Given the description of an element on the screen output the (x, y) to click on. 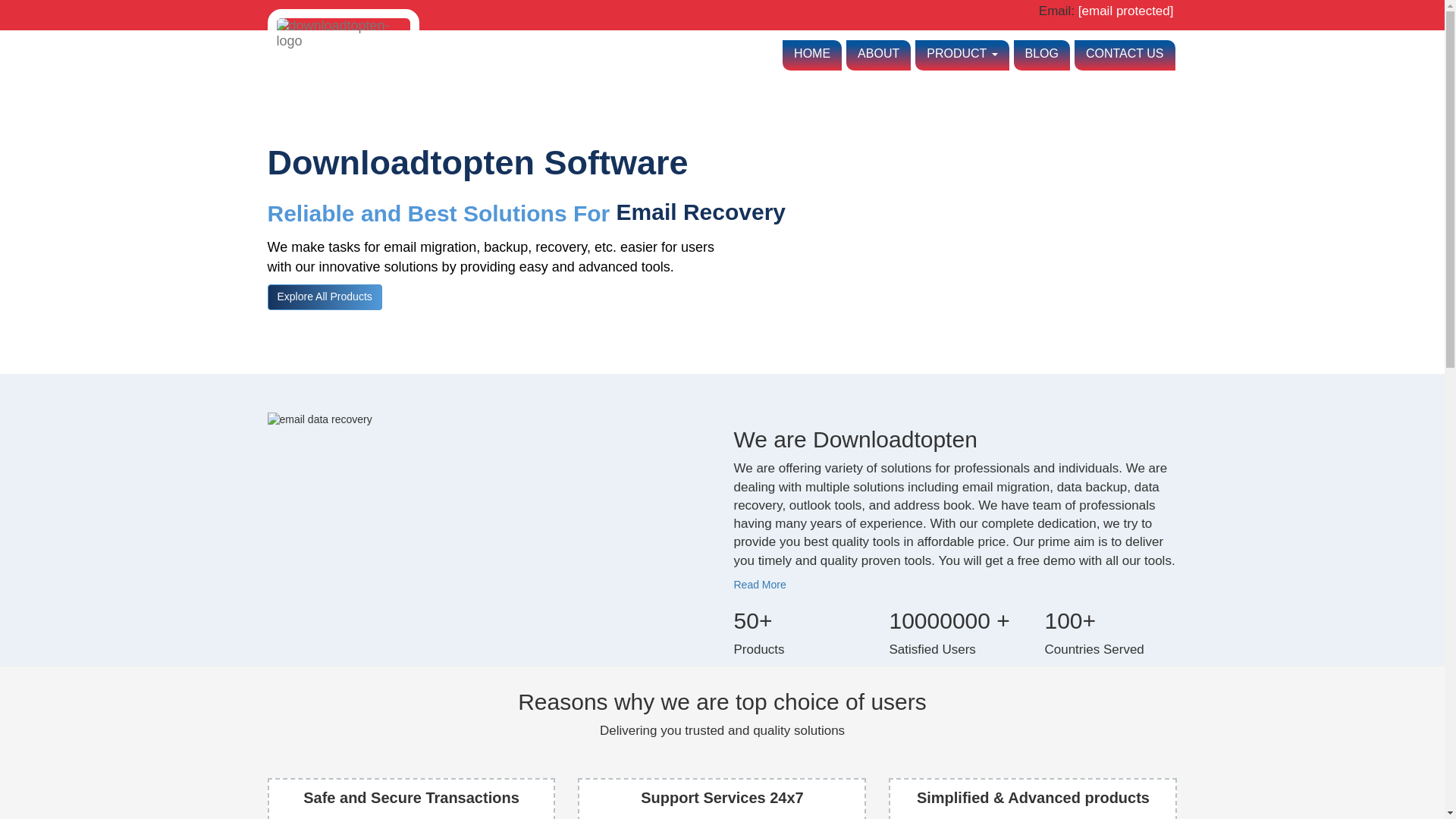
HOME (812, 55)
CONTACT US (1124, 55)
Explore All Products (323, 297)
Read More (759, 584)
PRODUCT (962, 55)
BLOG (1040, 55)
ABOUT (878, 55)
